Given the description of an element on the screen output the (x, y) to click on. 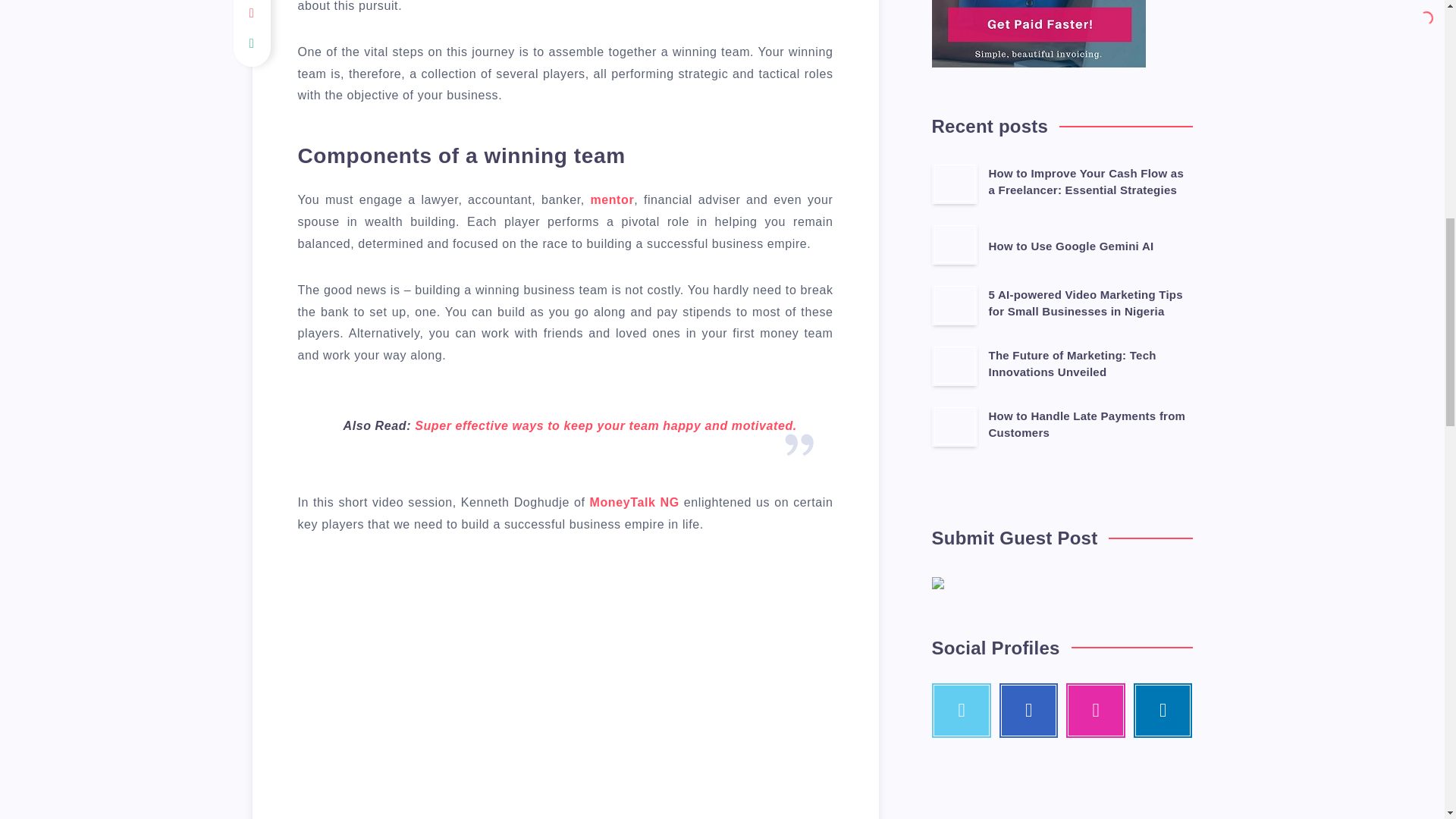
mentor (611, 199)
Super effective ways to keep your team happy and motivated. (605, 425)
